Given the description of an element on the screen output the (x, y) to click on. 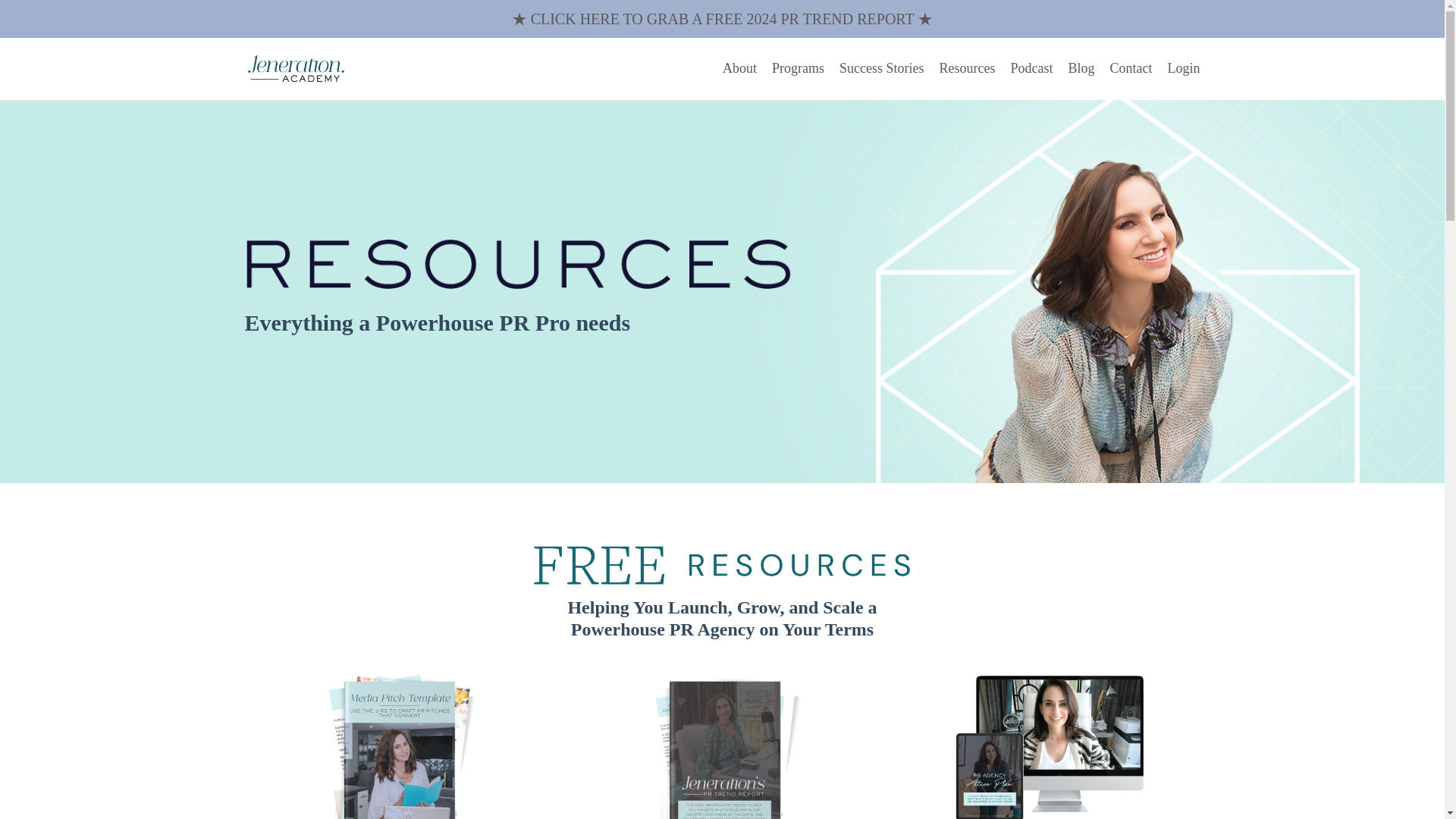
Podcast (1031, 68)
Resources (966, 68)
Login (1183, 68)
Blog (1080, 68)
Programs (797, 68)
Contact (1131, 68)
About (739, 68)
Success Stories (882, 68)
